Given the description of an element on the screen output the (x, y) to click on. 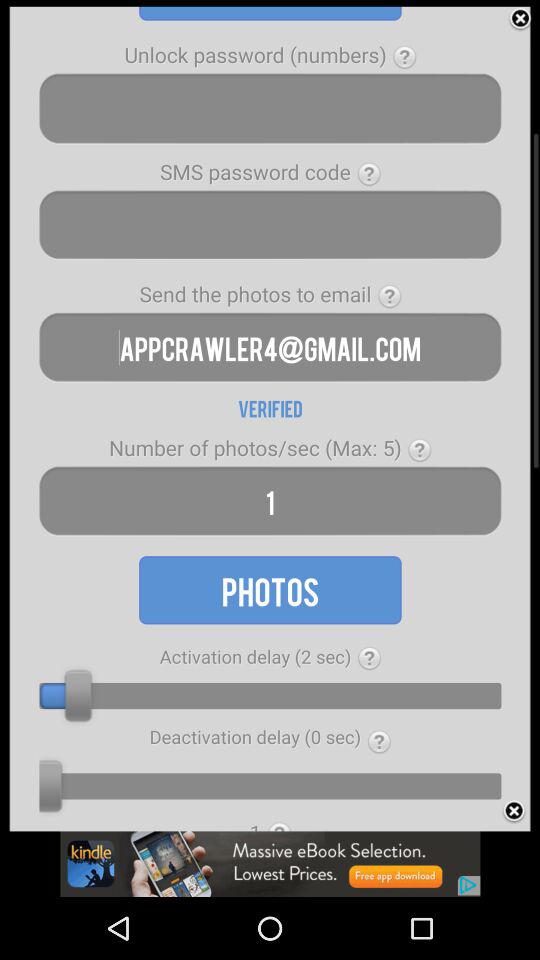
go to close option (520, 19)
